Given the description of an element on the screen output the (x, y) to click on. 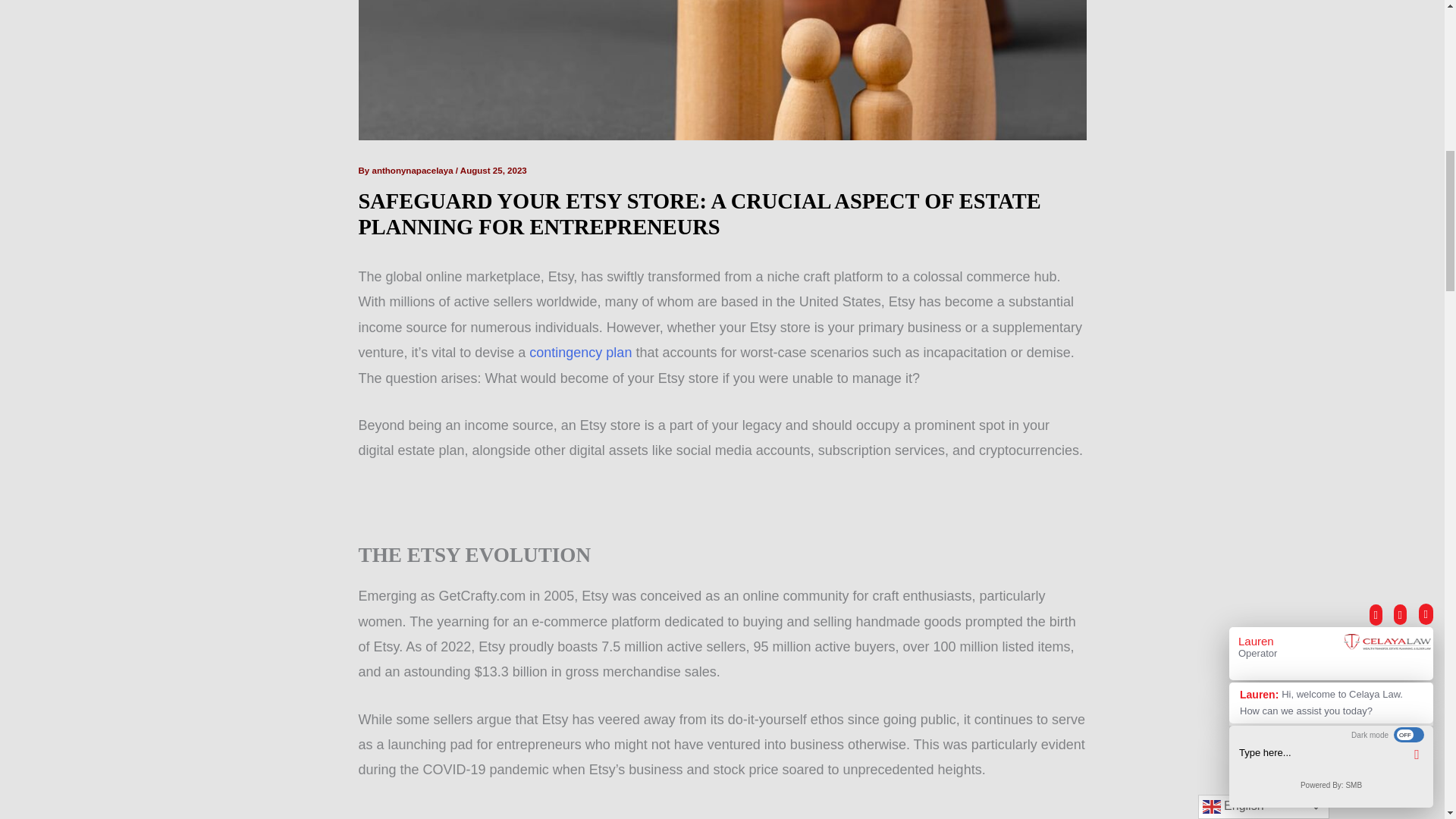
View all posts by anthonynapacelaya (412, 170)
